Given the description of an element on the screen output the (x, y) to click on. 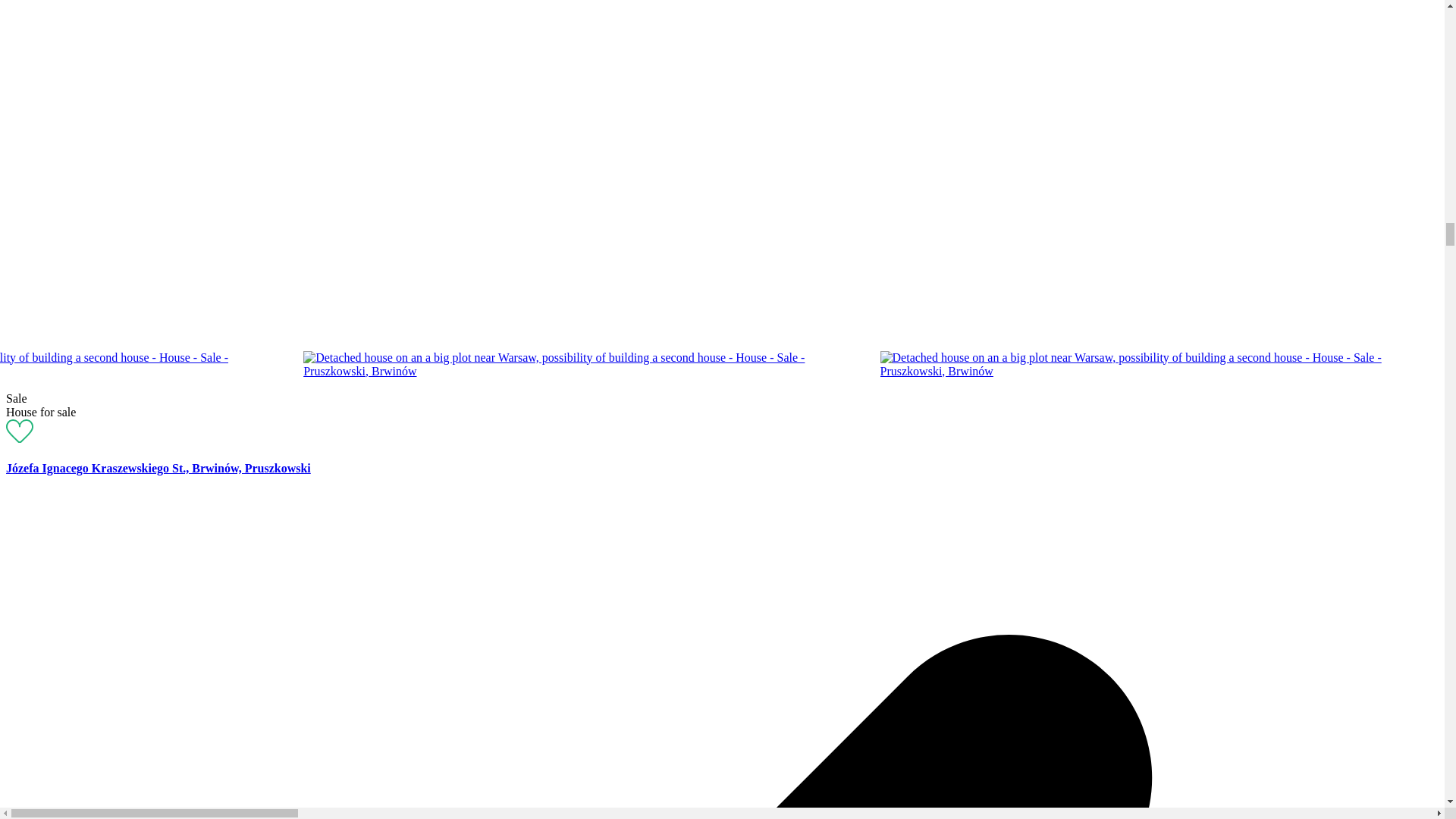
Add offer to favorites (19, 438)
